Given the description of an element on the screen output the (x, y) to click on. 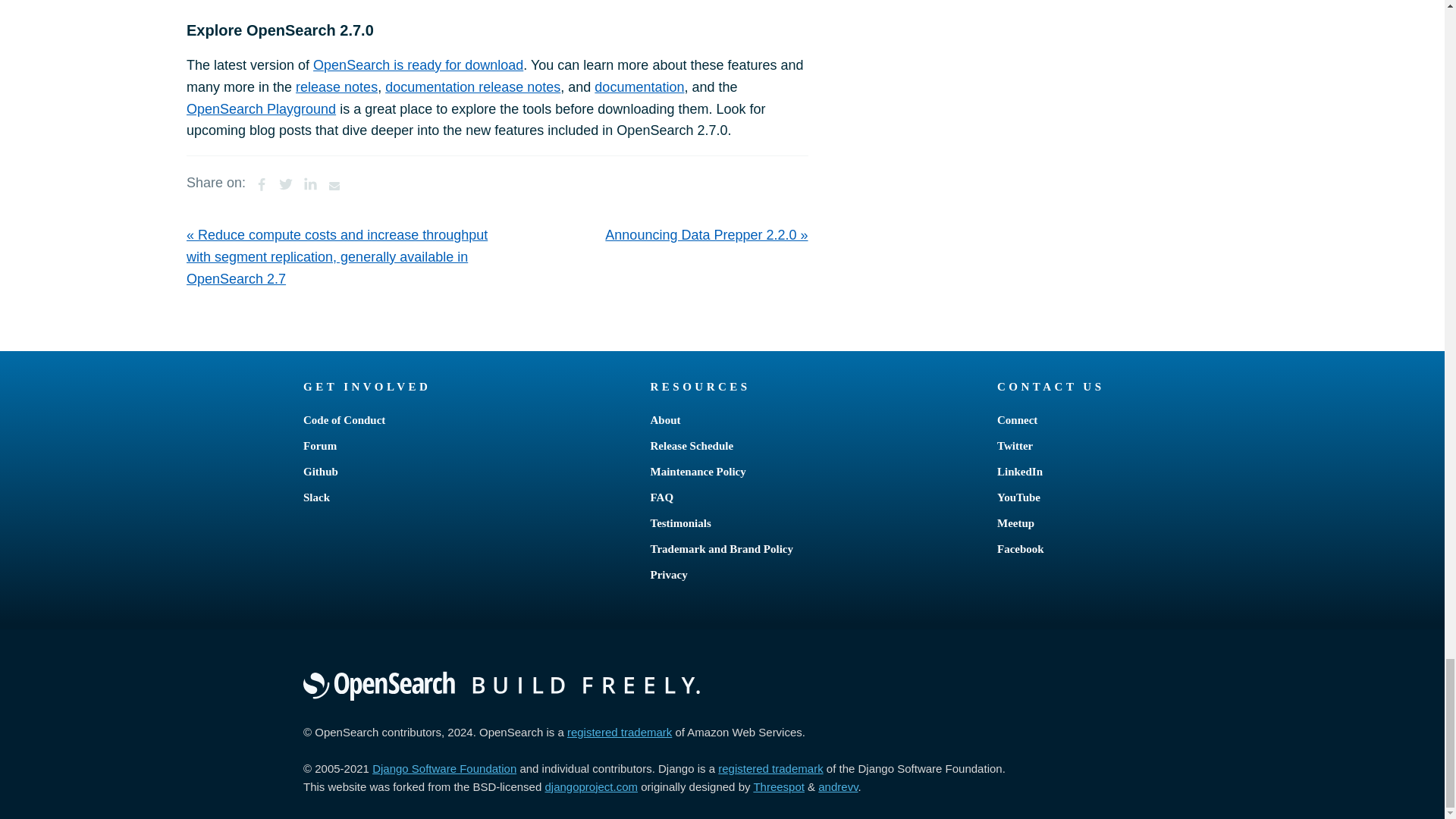
Share this on Facebook (260, 183)
Share this through Email (333, 183)
Share this on Twitter (285, 183)
